Given the description of an element on the screen output the (x, y) to click on. 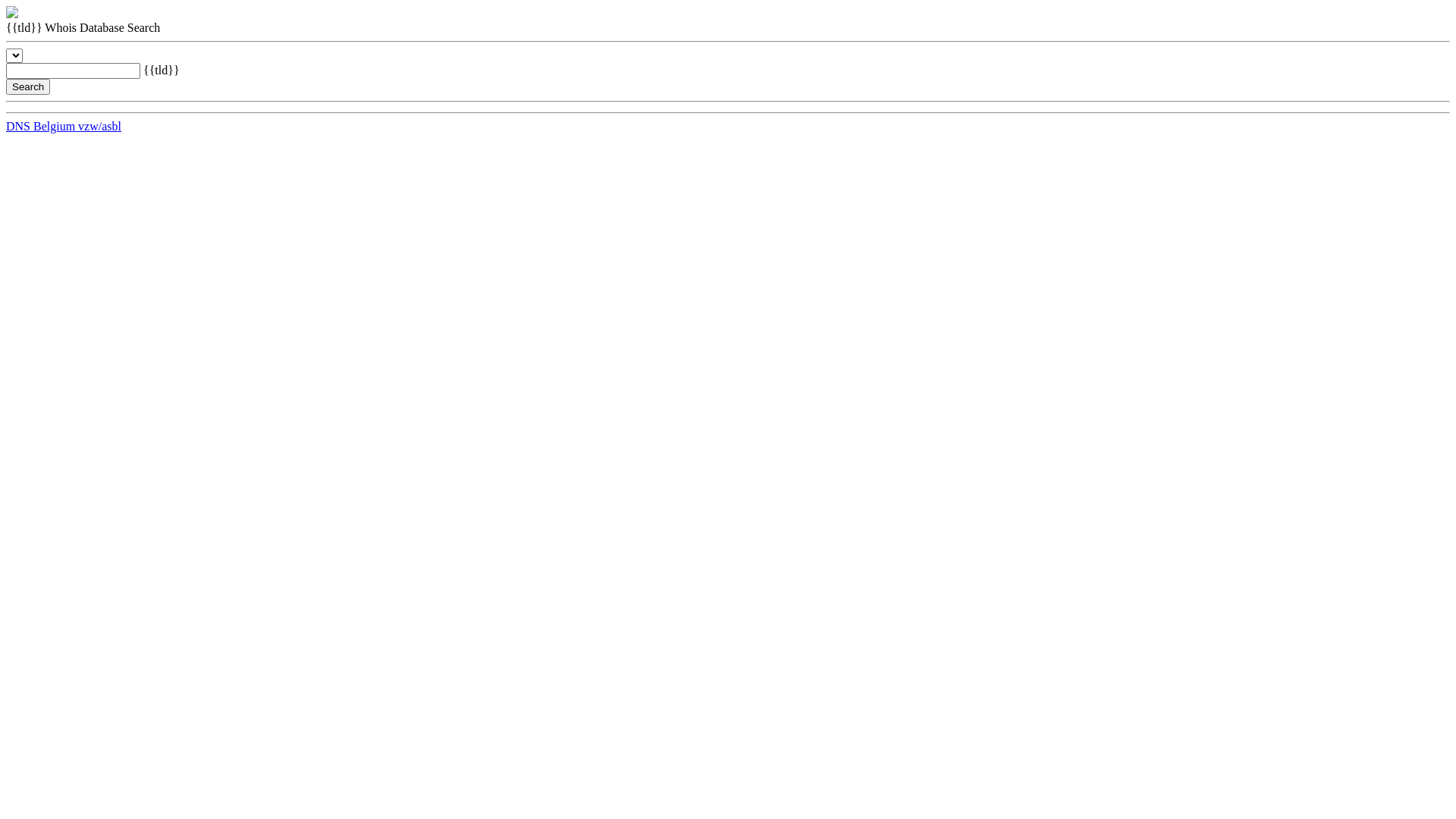
Search Element type: text (28, 86)
DNS Belgium vzw/asbl Element type: text (63, 125)
